Given the description of an element on the screen output the (x, y) to click on. 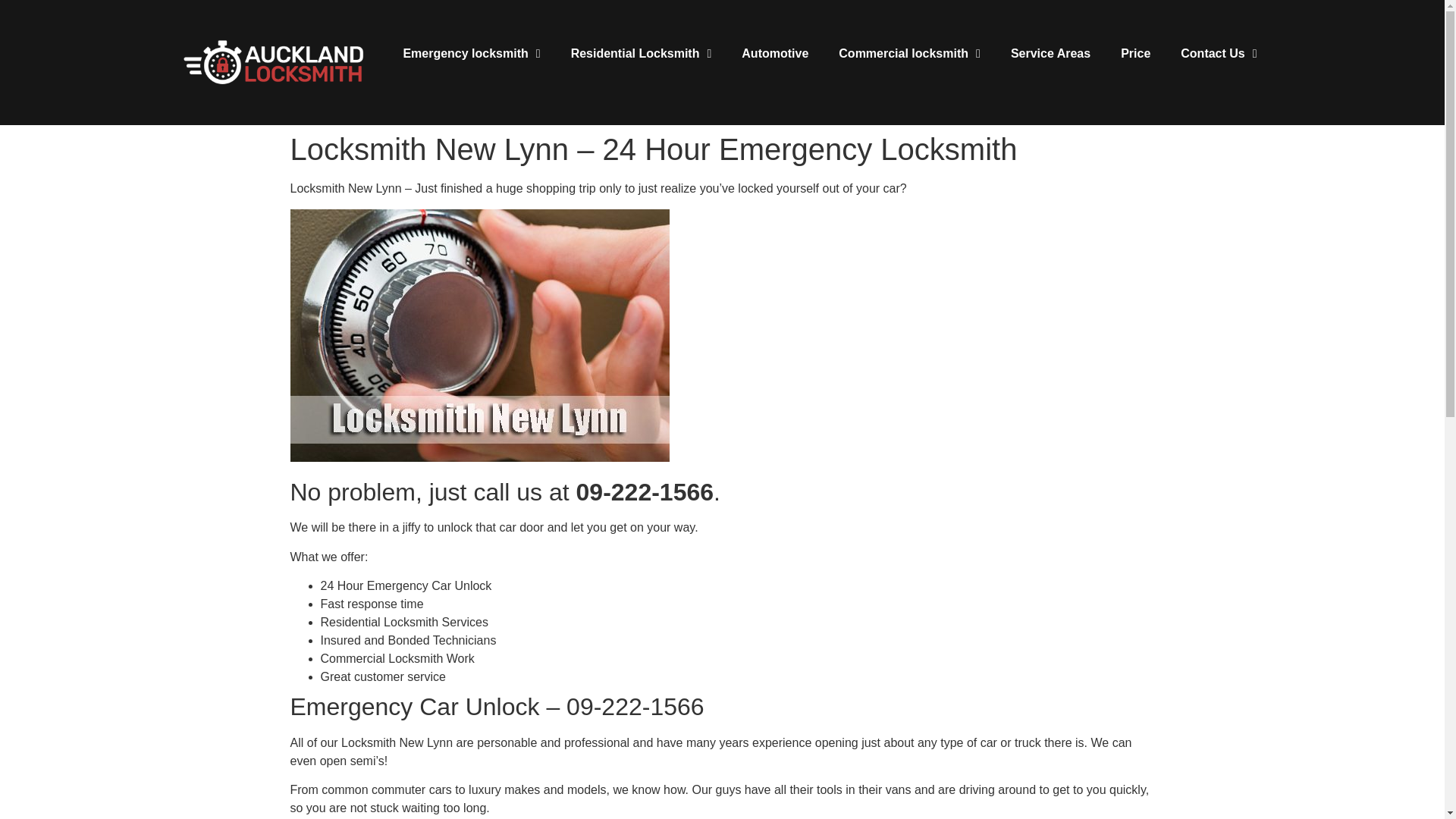
Commercial locksmith (909, 53)
Price (1135, 53)
Contact Us (1218, 53)
Automotive (775, 53)
Residential Locksmith (641, 53)
Service Areas (1050, 53)
Emergency locksmith (470, 53)
